Given the description of an element on the screen output the (x, y) to click on. 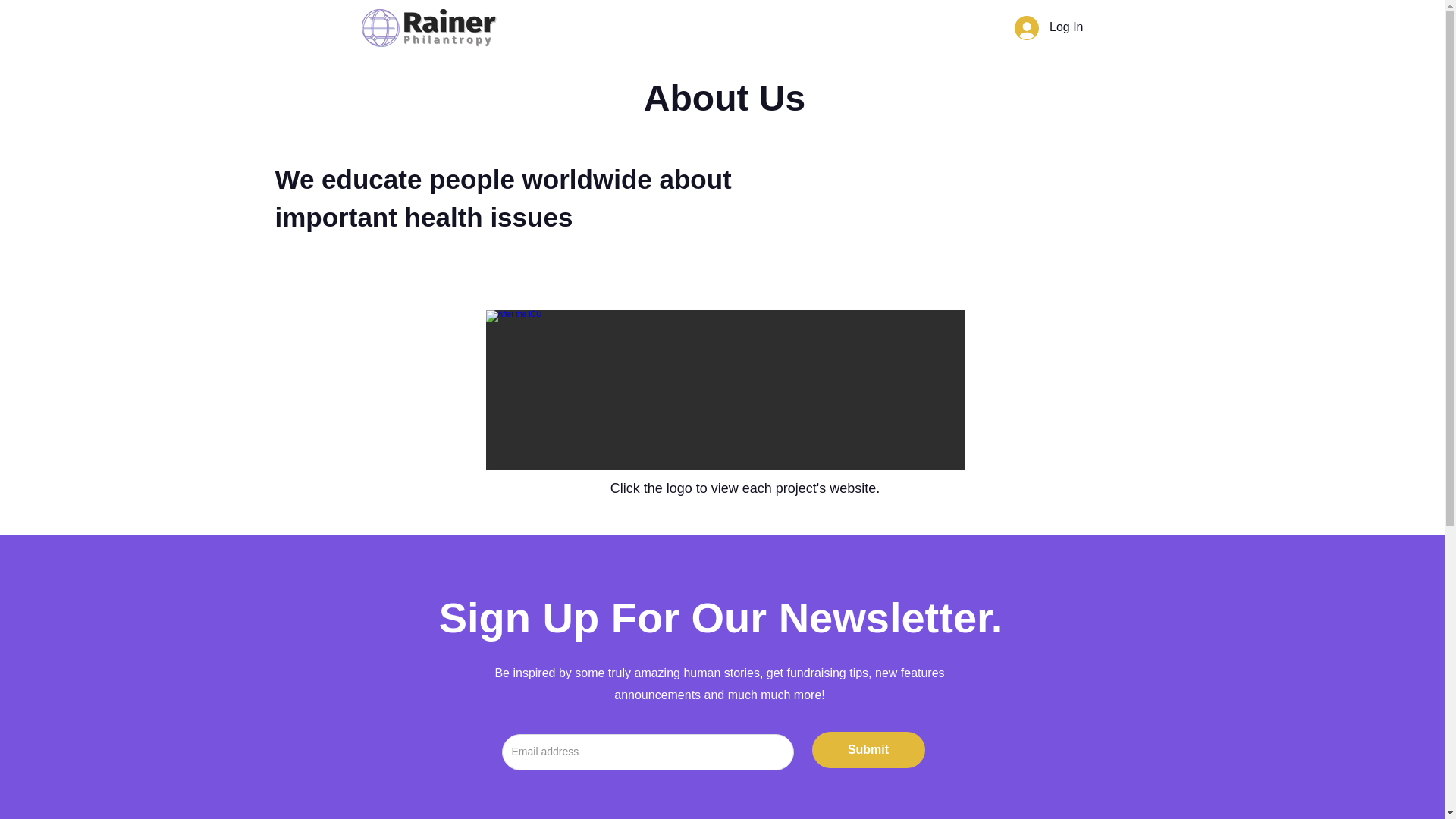
Log In (1048, 27)
Submit (867, 750)
x0gmjjk7.png (428, 27)
